Given the description of an element on the screen output the (x, y) to click on. 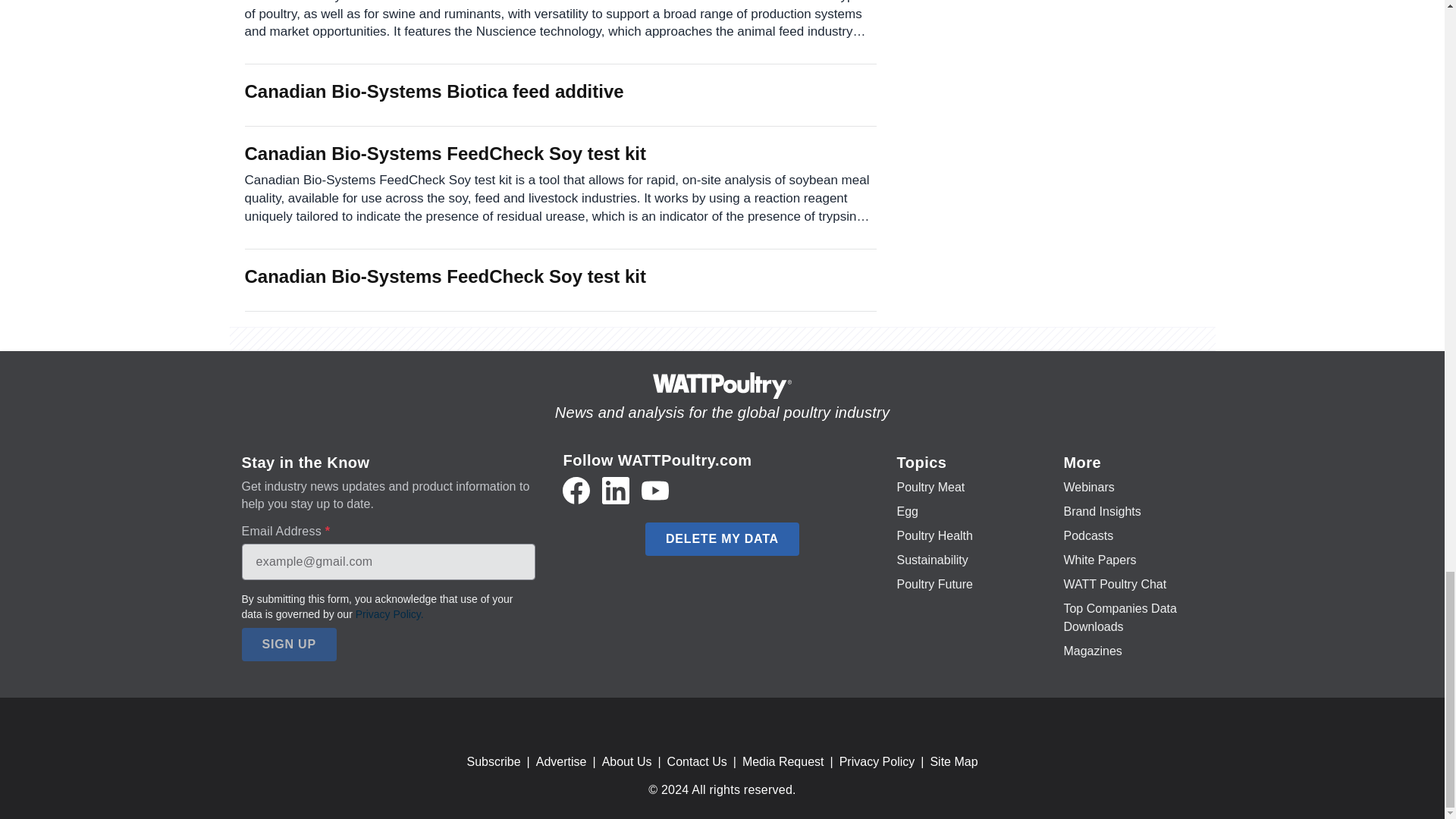
Visit us on Facebook (575, 490)
YouTube icon (655, 490)
Visit us on Youtube (655, 490)
LinkedIn icon (615, 490)
Facebook icon (575, 490)
Visit us on Linkedin (615, 490)
